Given the description of an element on the screen output the (x, y) to click on. 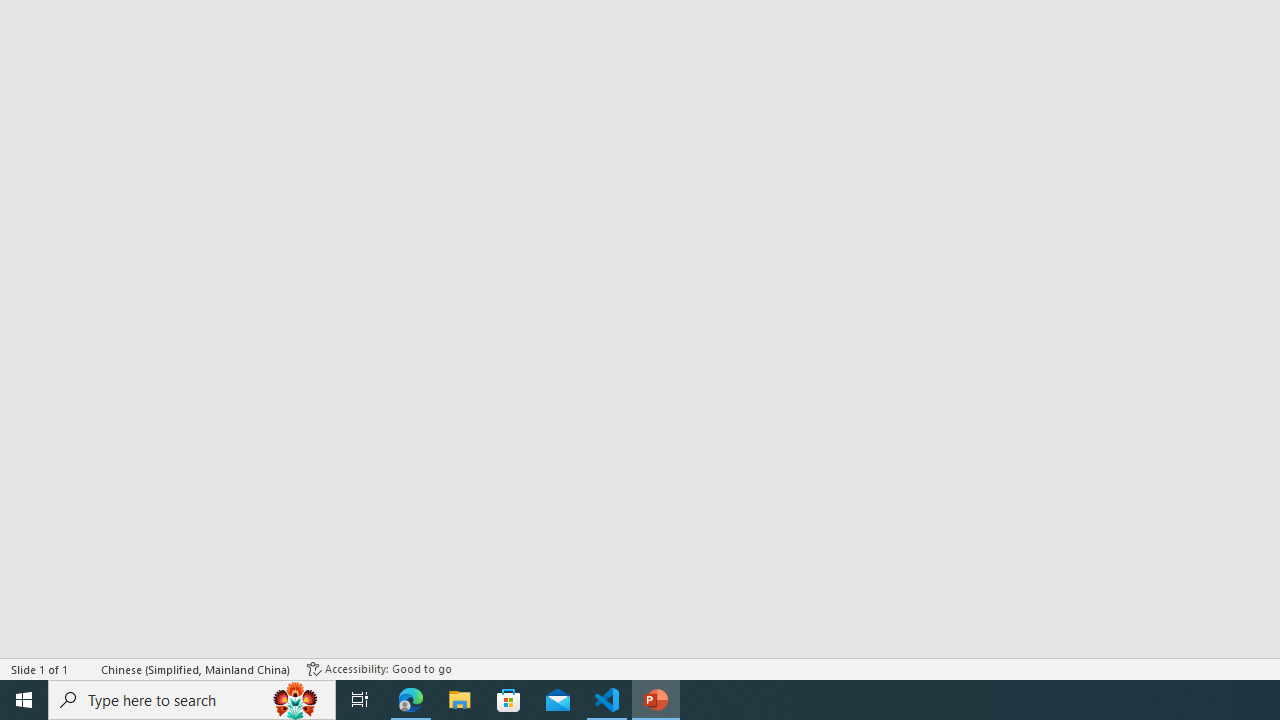
Spell Check  (86, 668)
